Given the description of an element on the screen output the (x, y) to click on. 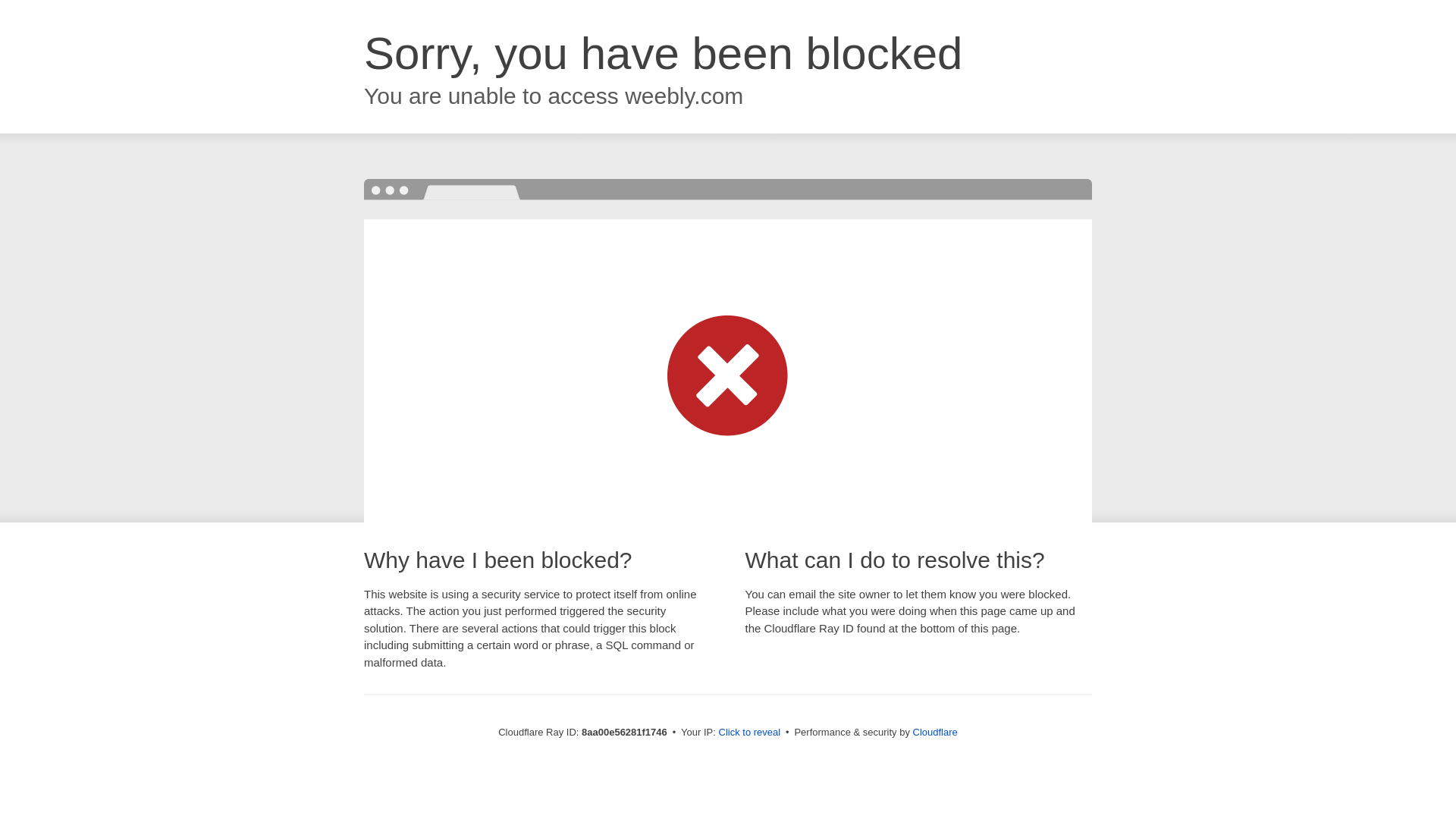
Cloudflare (935, 731)
Click to reveal (749, 732)
